Given the description of an element on the screen output the (x, y) to click on. 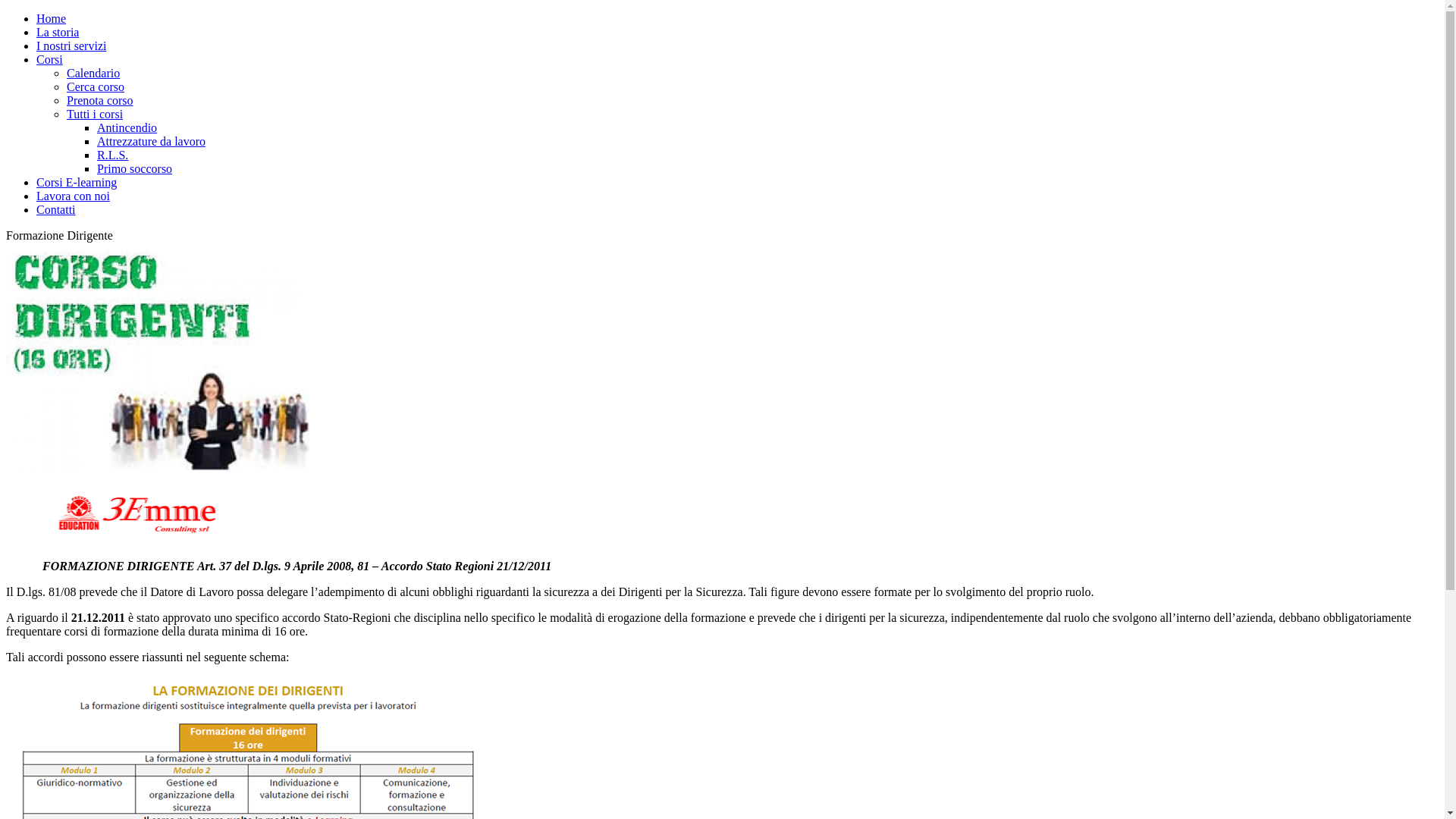
Lavora con noi Element type: text (72, 195)
Home Element type: text (50, 18)
Corsi E-learning Element type: text (76, 181)
I nostri servizi Element type: text (71, 45)
Contatti Element type: text (55, 209)
Jump to navigation Element type: text (52, 12)
Cerca corso Element type: text (95, 86)
Corsi Element type: text (49, 59)
Antincendio Element type: text (126, 127)
R.L.S. Element type: text (112, 154)
Tutti i corsi Element type: text (94, 113)
La storia Element type: text (57, 31)
Prenota corso Element type: text (99, 100)
Attrezzature da lavoro Element type: text (151, 140)
Calendario Element type: text (92, 72)
Primo soccorso Element type: text (134, 168)
